Given the description of an element on the screen output the (x, y) to click on. 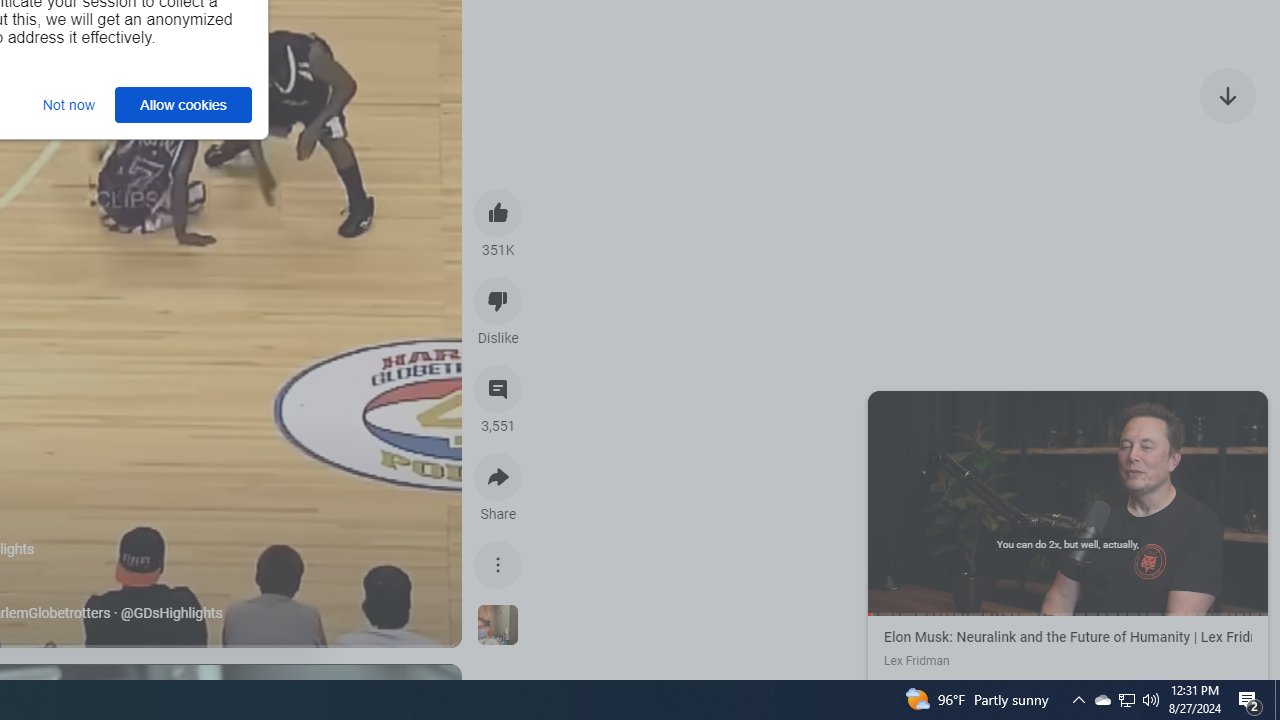
View 3,551 comments (498, 389)
Seek slider (1067, 614)
Expand (i) (887, 410)
Pause (k) (1067, 501)
Share (498, 476)
like this video along with 351K other people (498, 212)
Next video (1227, 94)
Next (SHIFT+n) (1168, 501)
More actions (498, 564)
See more videos using this sound (497, 626)
Dislike this video (498, 300)
Allow cookies (183, 104)
